Given the description of an element on the screen output the (x, y) to click on. 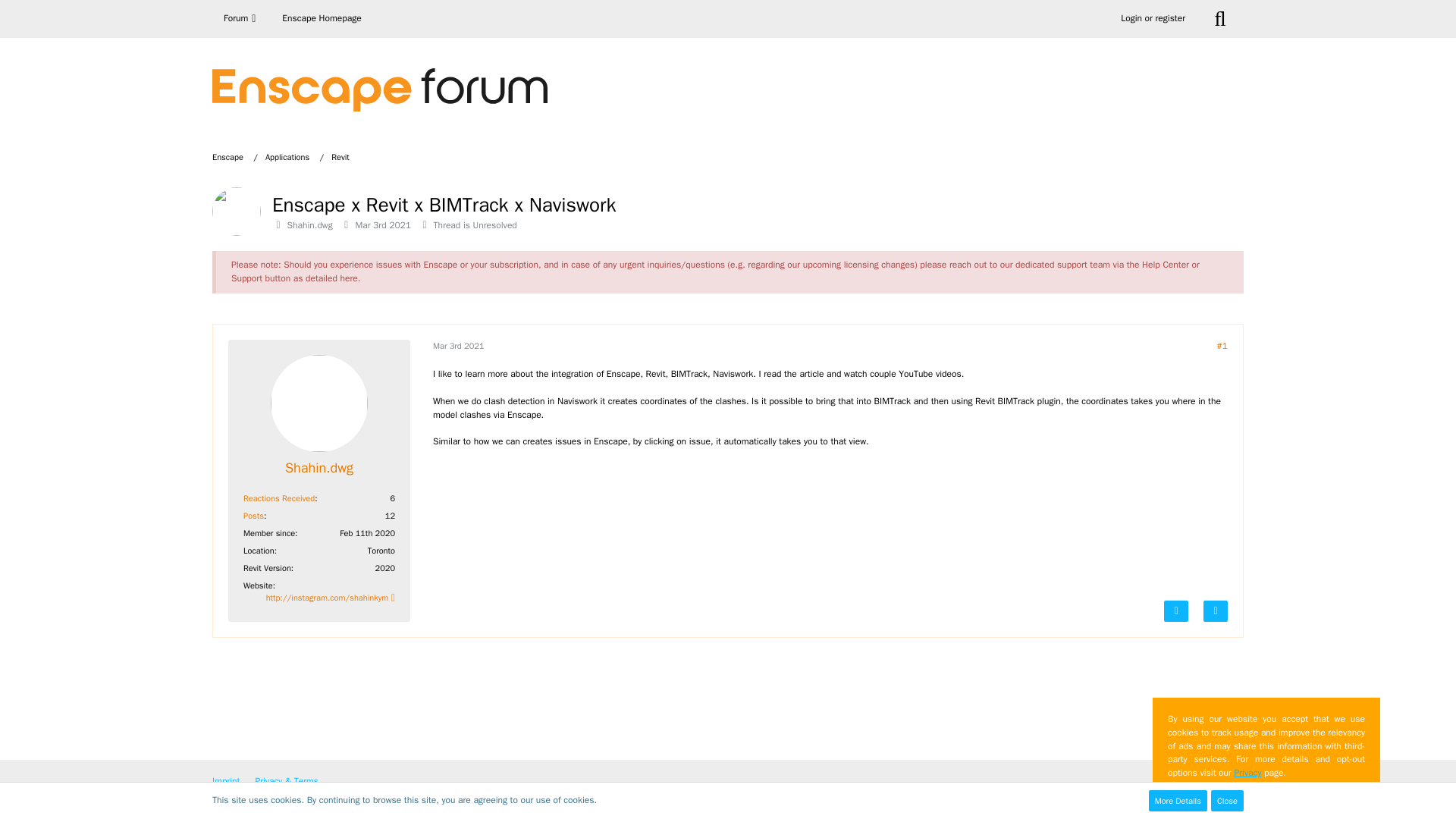
Applications (286, 156)
More Details (1177, 800)
Login or register (1152, 18)
Revit (340, 156)
Privacy (1246, 772)
Applications (293, 156)
Posts (253, 515)
Shahin.dwg (309, 224)
Reactions Received (278, 498)
Imprint (226, 780)
Close (1227, 800)
Shahin.dwg (319, 467)
here. (350, 277)
Mar 3rd 2021 (457, 345)
Mar 3rd 2021 (382, 224)
